Given the description of an element on the screen output the (x, y) to click on. 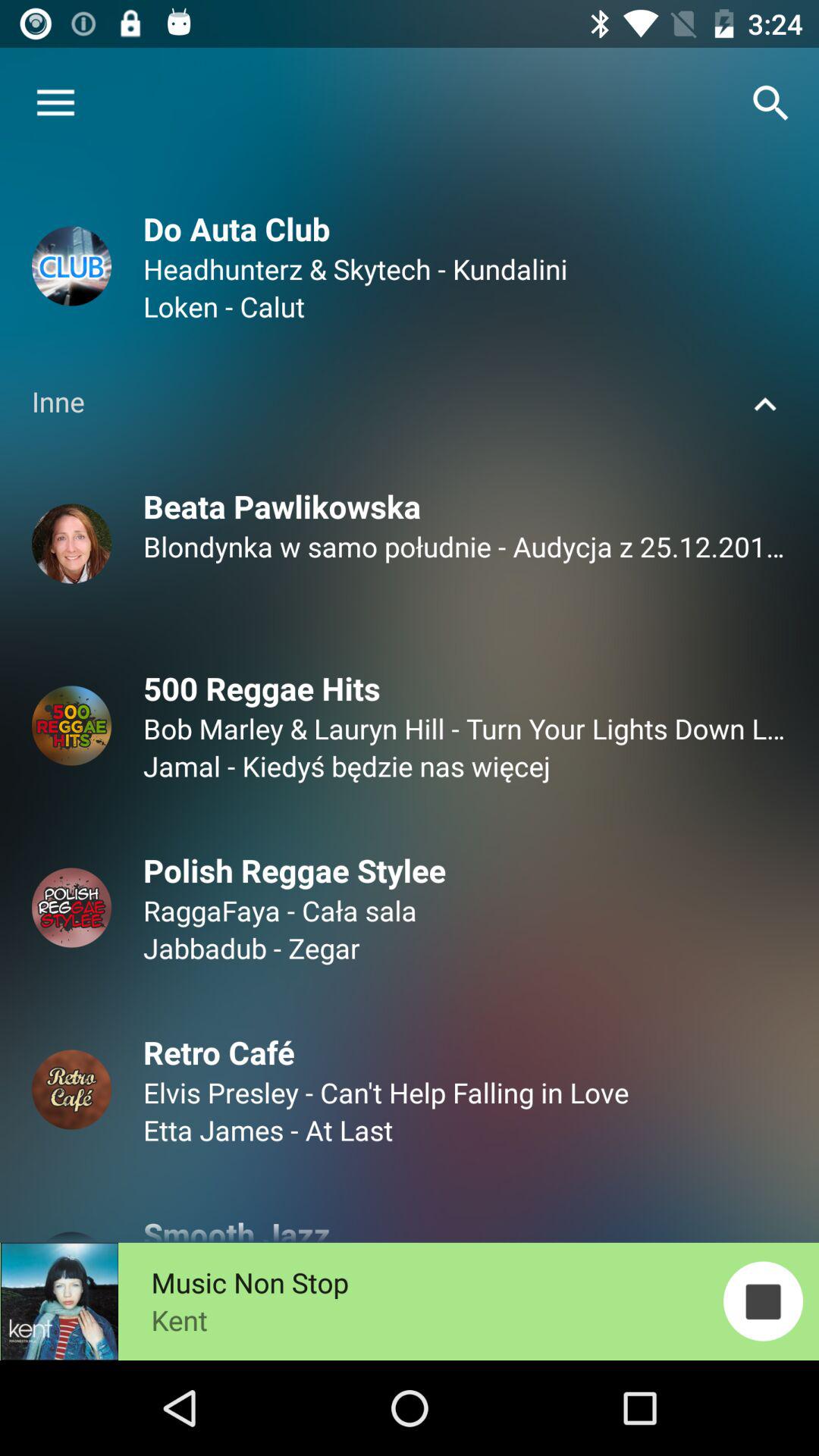
click on the second option  icon under inne (71, 725)
click on button which is on the top right corner of page (771, 103)
click on stop icon (763, 1300)
click on the image below inne (71, 543)
